Given the description of an element on the screen output the (x, y) to click on. 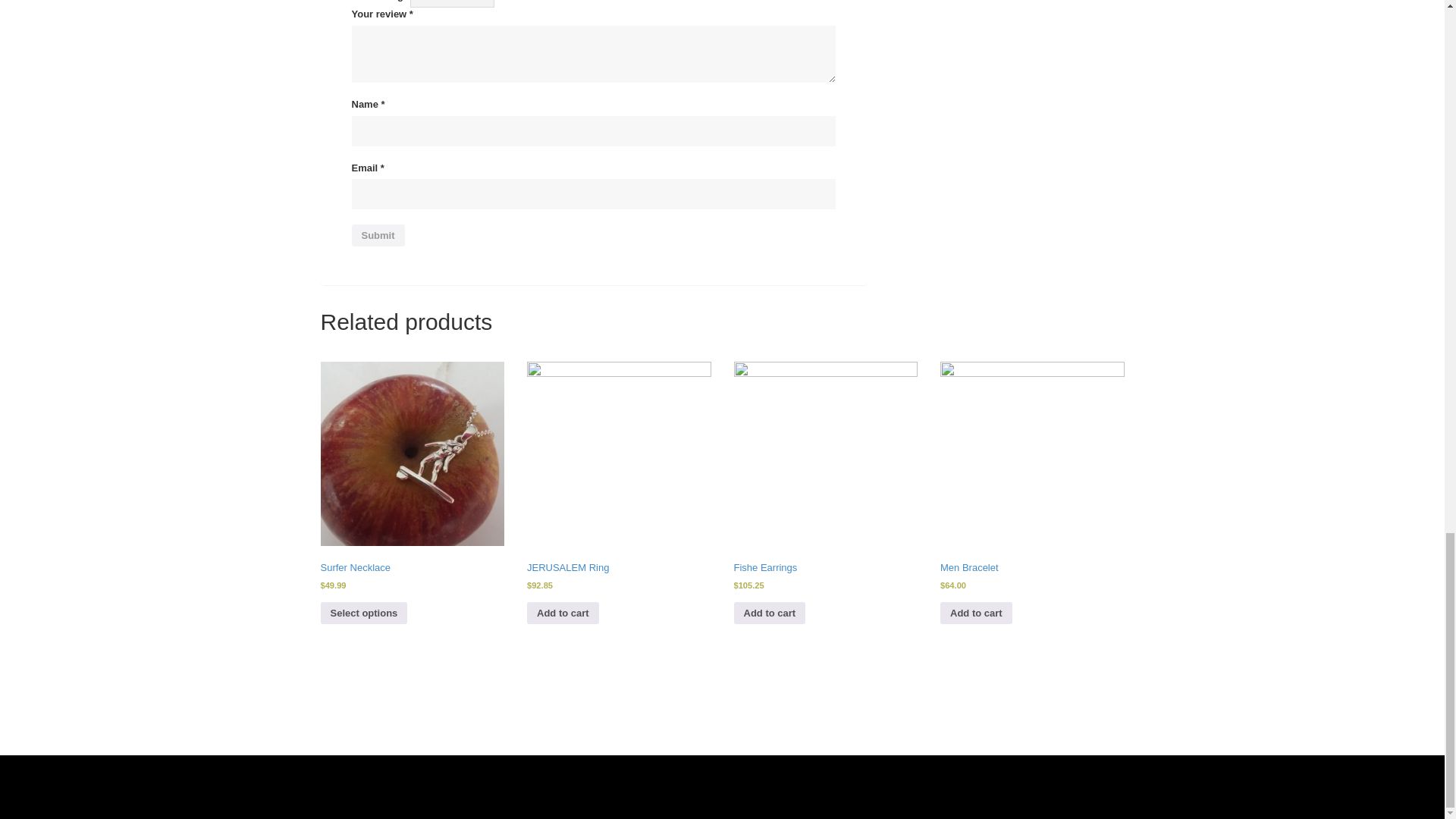
Submit (378, 235)
